Given the description of an element on the screen output the (x, y) to click on. 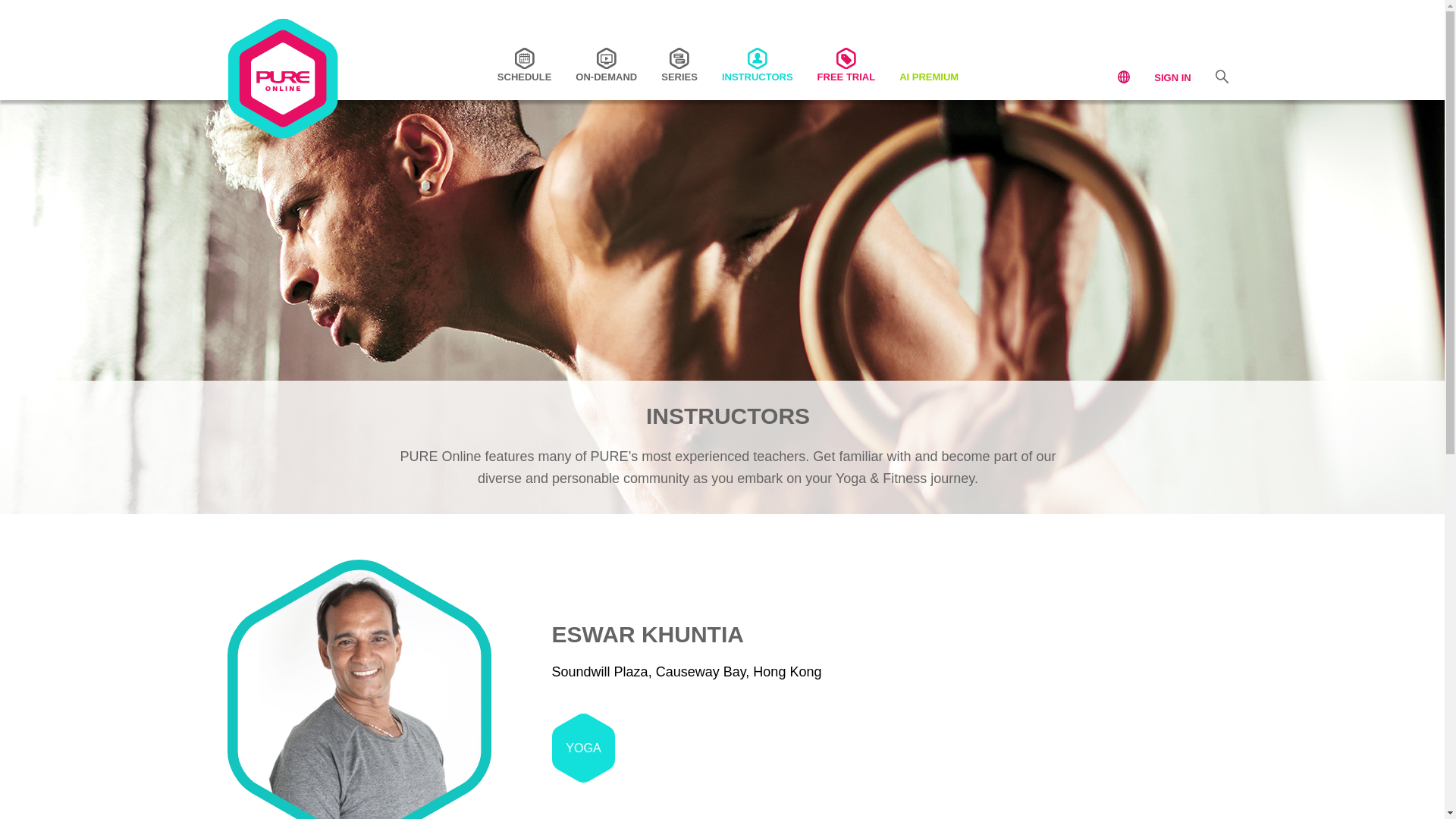
SERIES (679, 63)
SCHEDULE (524, 63)
SIGN IN (1172, 77)
FREE TRIAL (846, 63)
AI PREMIUM (928, 63)
INSTRUCTORS (757, 63)
ON-DEMAND (606, 63)
